Given the description of an element on the screen output the (x, y) to click on. 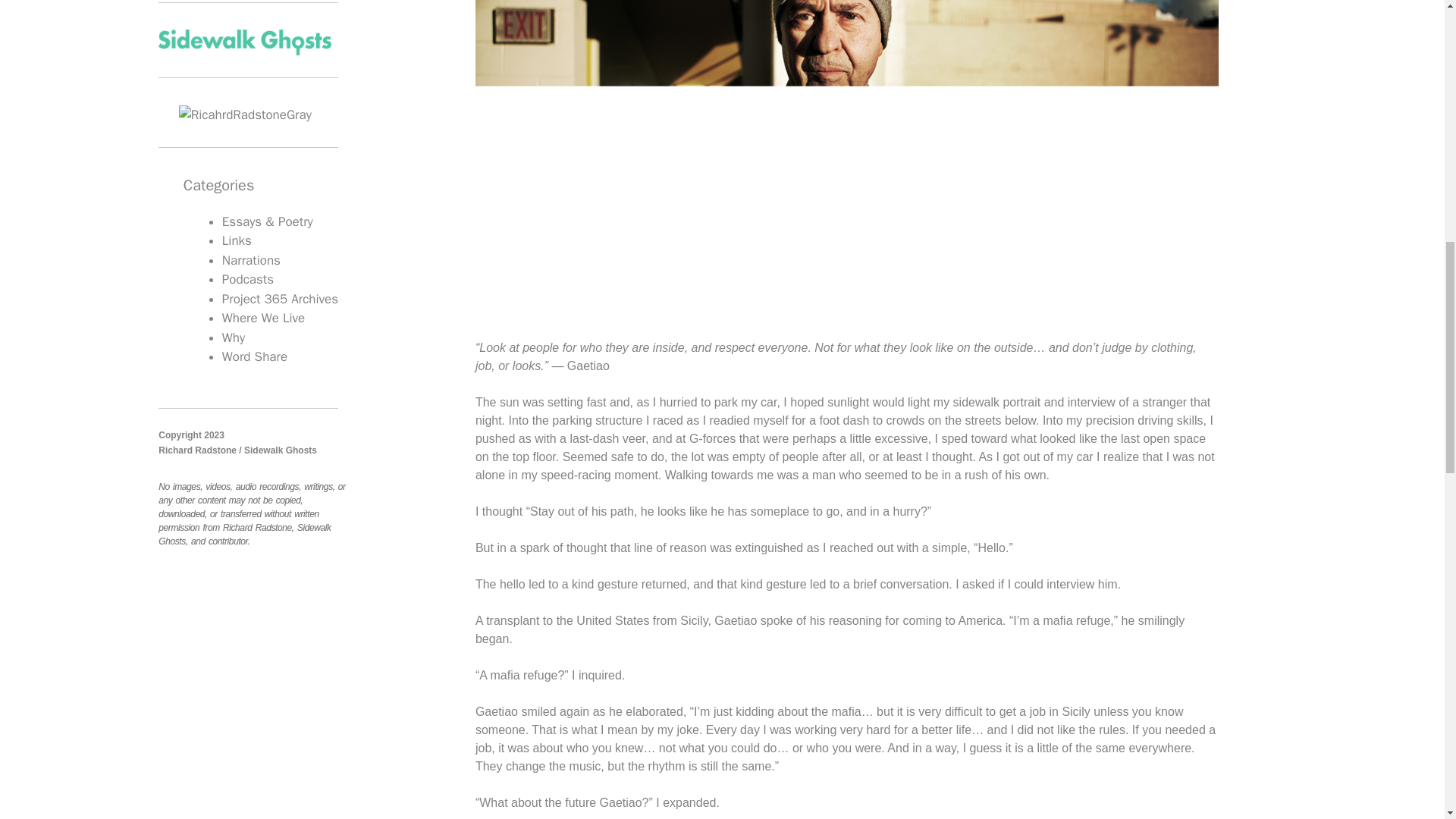
Where We Live (263, 317)
Why (233, 337)
Project 365 Archives (279, 299)
SWG-4ec5a5-250-pixel.png (244, 42)
Podcasts (247, 279)
Word Share (254, 356)
RicahrdRadstoneGray (245, 115)
Links (236, 240)
Narrations (251, 260)
